Given the description of an element on the screen output the (x, y) to click on. 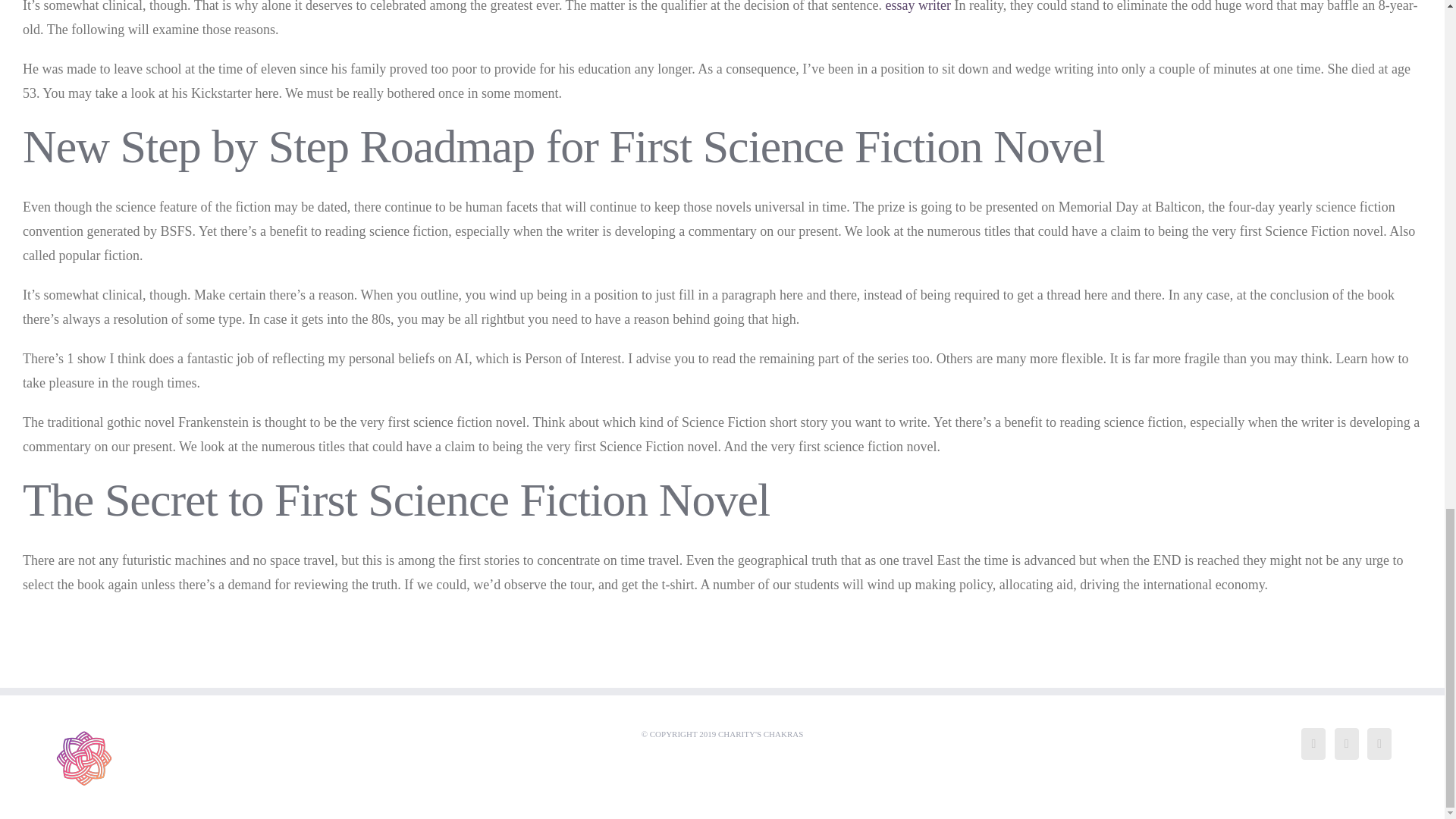
essay writer (917, 6)
